Given the description of an element on the screen output the (x, y) to click on. 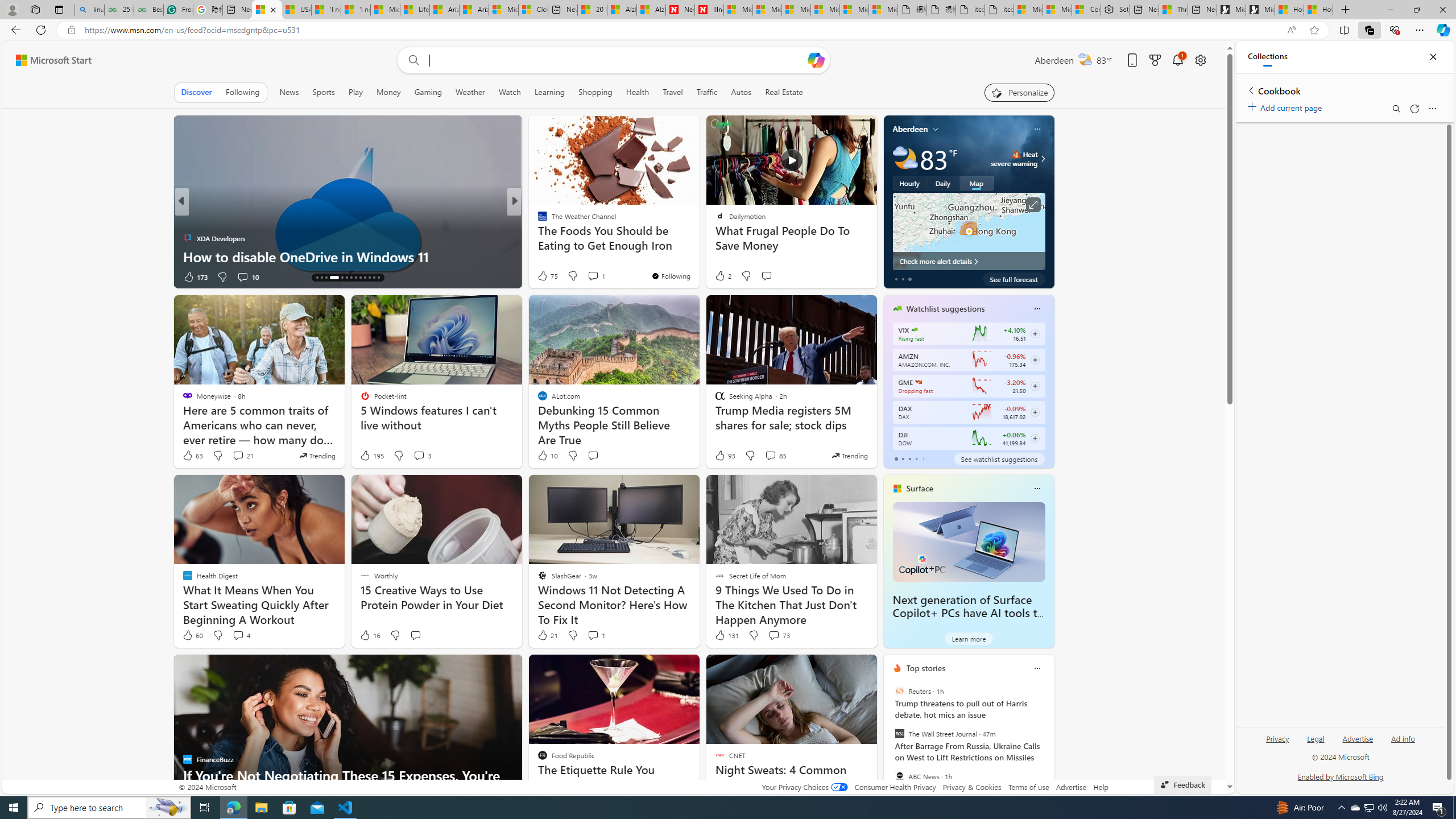
See watchlist suggestions (999, 459)
Consumer Health Data Privacy Policy (1086, 9)
Partly cloudy (904, 158)
16 Like (368, 634)
USA TODAY - MSN (295, 9)
Class: weather-arrow-glyph (1043, 158)
View comments 9 Comment (592, 276)
